Given the description of an element on the screen output the (x, y) to click on. 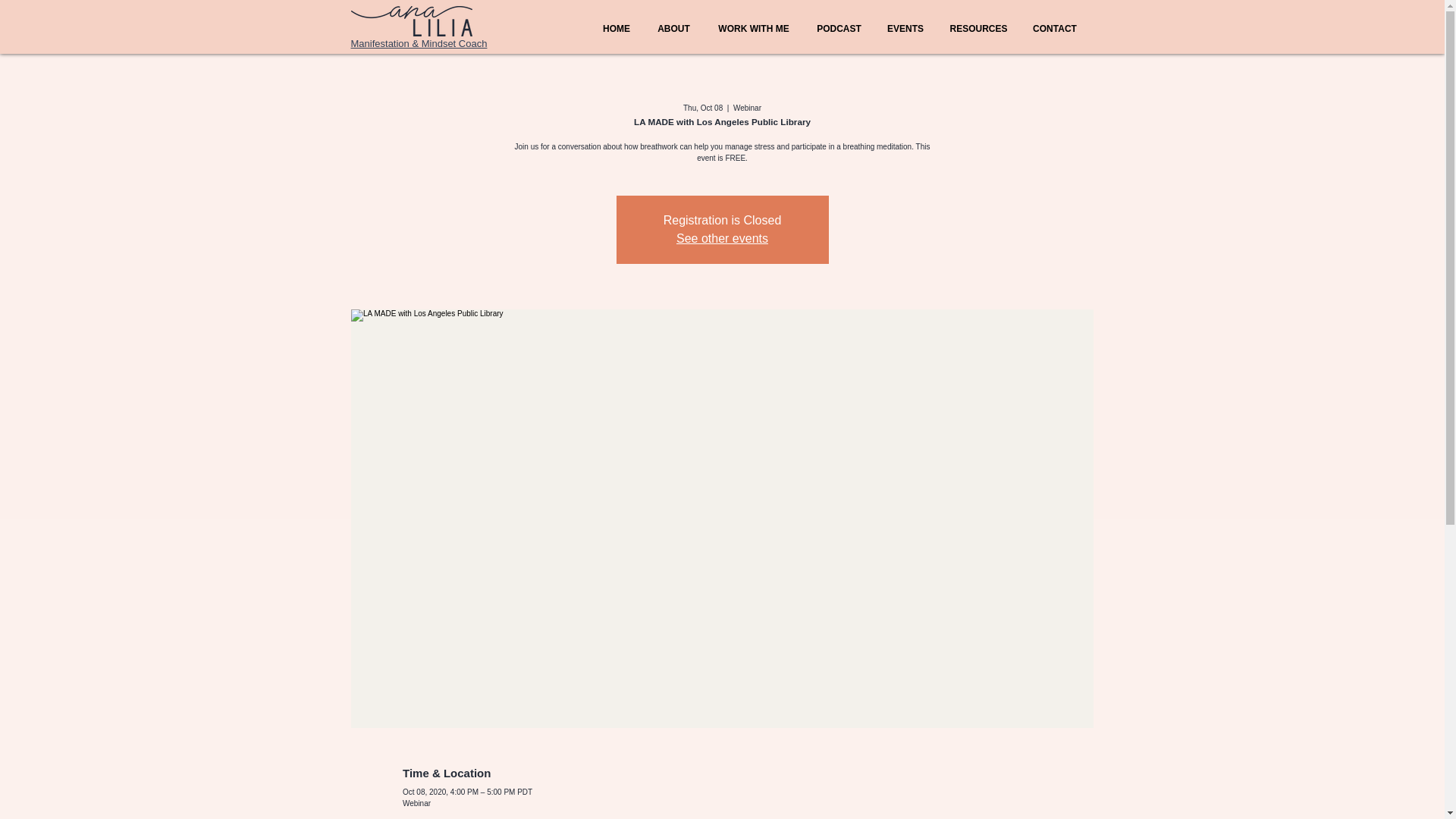
RESOURCES (978, 28)
EVENTS (904, 28)
PODCAST (838, 28)
HOME (615, 28)
WORK WITH ME (754, 28)
See other events (722, 237)
CONTACT (1054, 28)
ABOUT (674, 28)
